Given the description of an element on the screen output the (x, y) to click on. 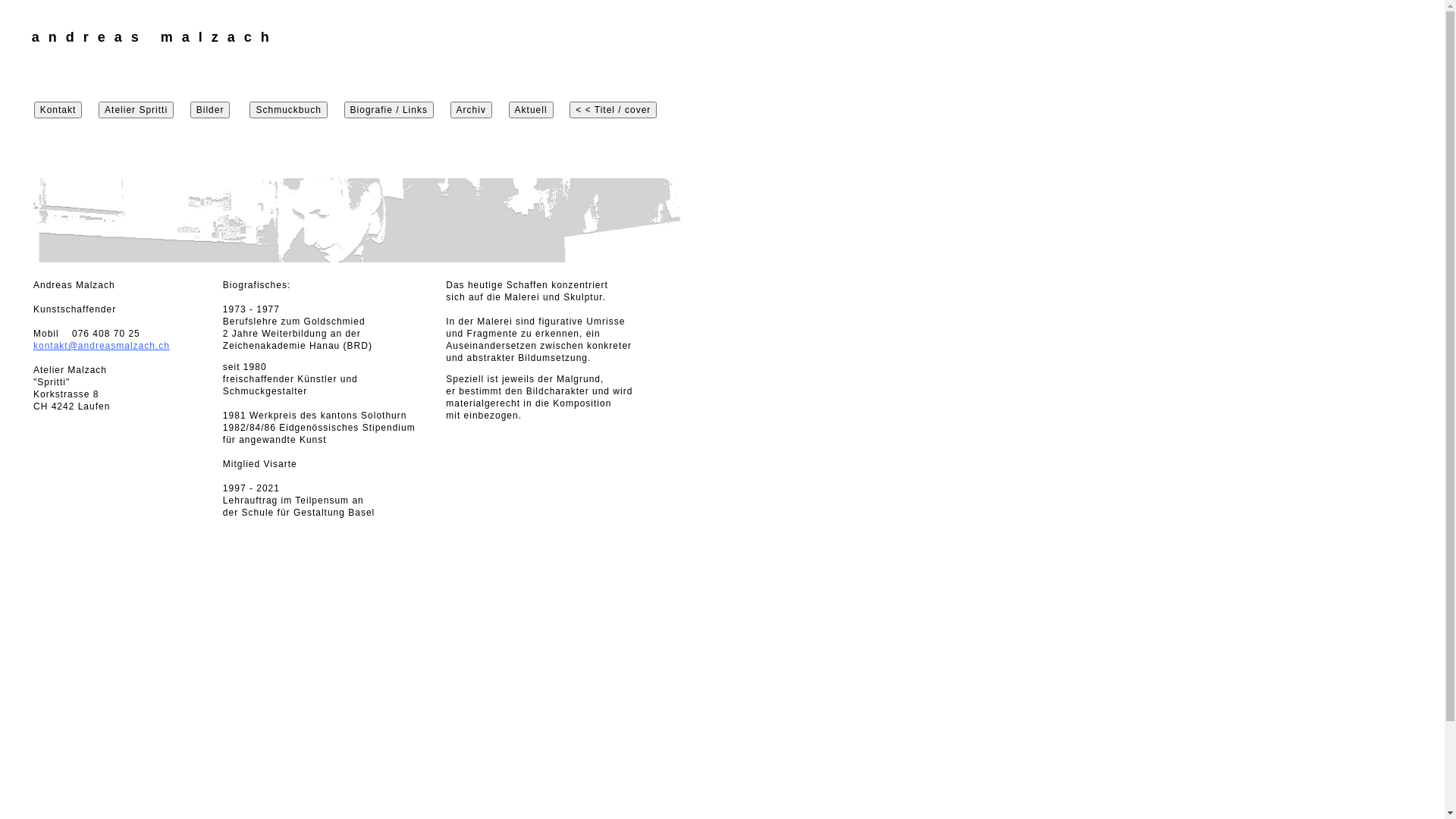
     Archiv Element type: text (462, 109)
Schmuckbuch Element type: text (287, 109)
Aktuell Element type: text (530, 109)
Schmuckbuch Element type: text (287, 109)
Atelier Spritti Element type: text (135, 109)
Kontakt Element type: text (58, 109)
Bilder Element type: text (210, 109)
Kontakt Element type: text (58, 109)
Biografie / Links Element type: text (388, 109)
Biografie / Links Element type: text (388, 109)
Aktuell Element type: text (530, 109)
   Element type: text (1032, 48)
Archiv Element type: text (471, 109)
< < Titel / cover Element type: text (612, 109)
kontakt@andreasmalzach.ch Element type: text (101, 345)
Bilder Element type: text (210, 109)
< < Titel / cover Element type: text (612, 109)
     Element type: text (1022, 48)
Atelier Spritti Element type: text (135, 109)
